Given the description of an element on the screen output the (x, y) to click on. 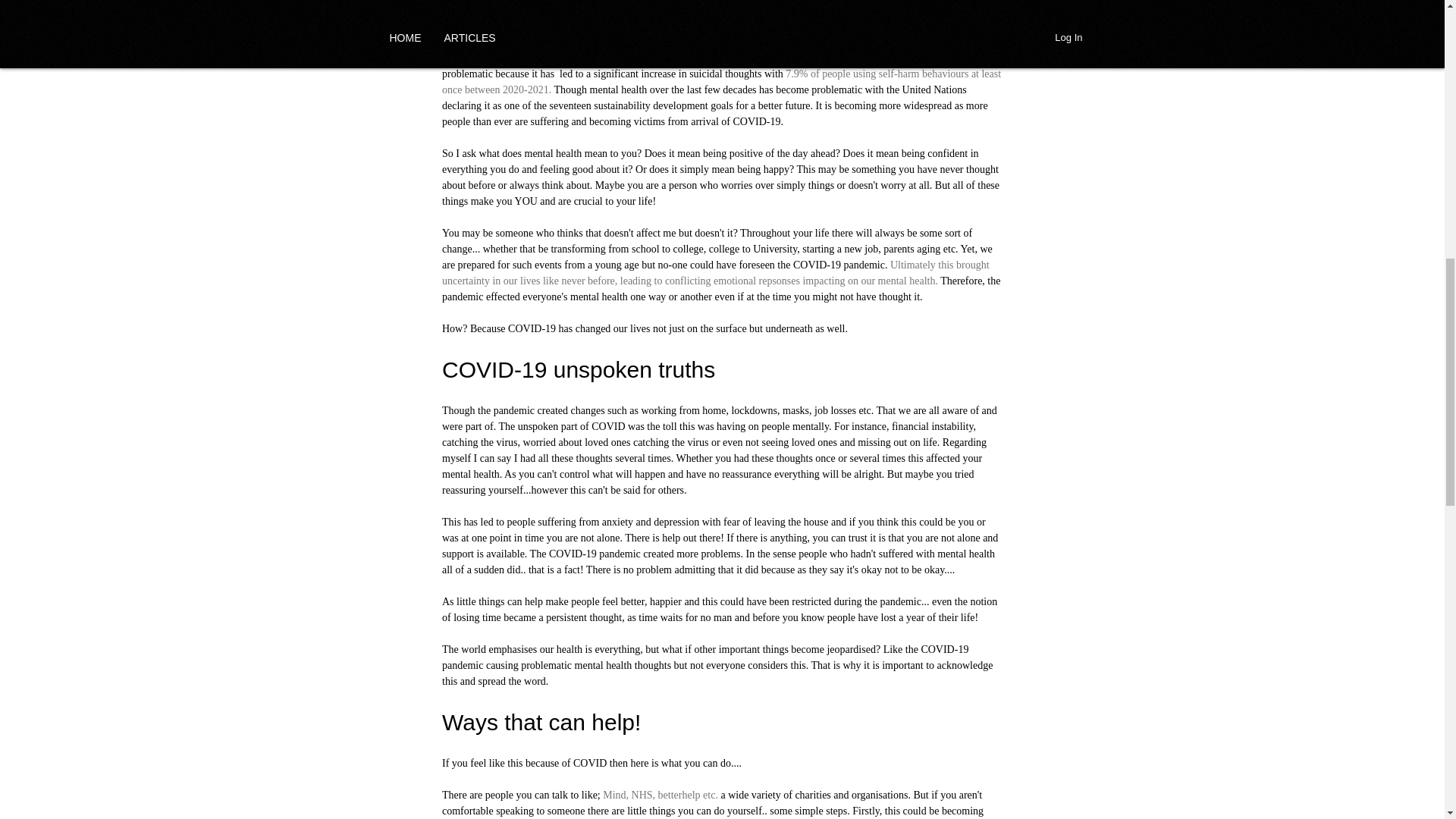
NHS (641, 794)
betterhelp (679, 794)
Mind (614, 794)
